Given the description of an element on the screen output the (x, y) to click on. 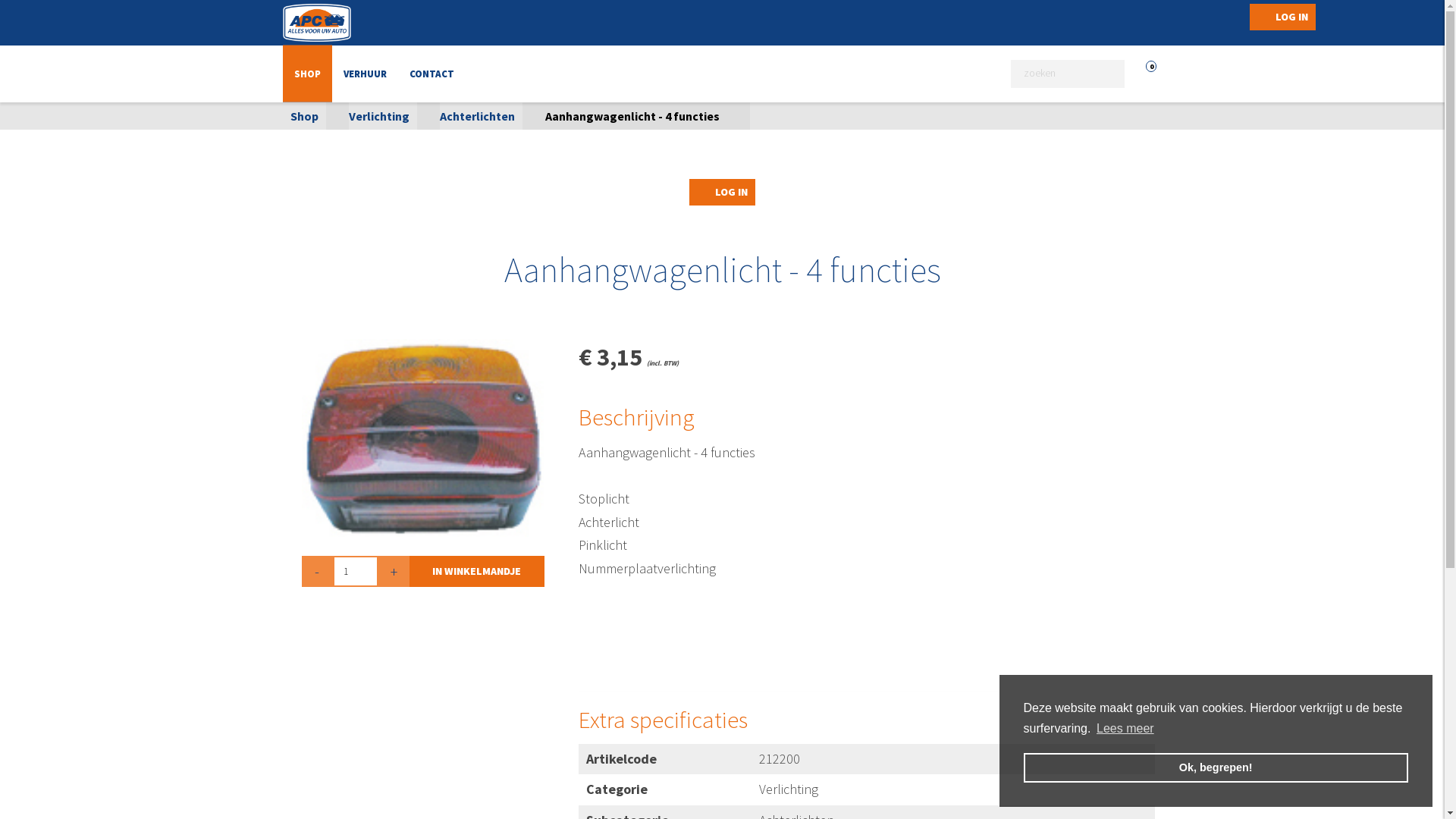
Shop Element type: text (303, 115)
VERHUUR Element type: text (365, 73)
Verzenden Element type: text (11, 11)
CONTACT Element type: text (430, 73)
Achterlichten Element type: text (476, 115)
LOG IN Element type: text (722, 191)
LOG IN Element type: text (1282, 16)
Verlichting Element type: text (378, 115)
SHOP Element type: text (306, 73)
Ok, begrepen! Element type: text (1215, 767)
Lees meer Element type: text (1125, 728)
IN WINKELMANDJE Element type: text (476, 570)
